Given the description of an element on the screen output the (x, y) to click on. 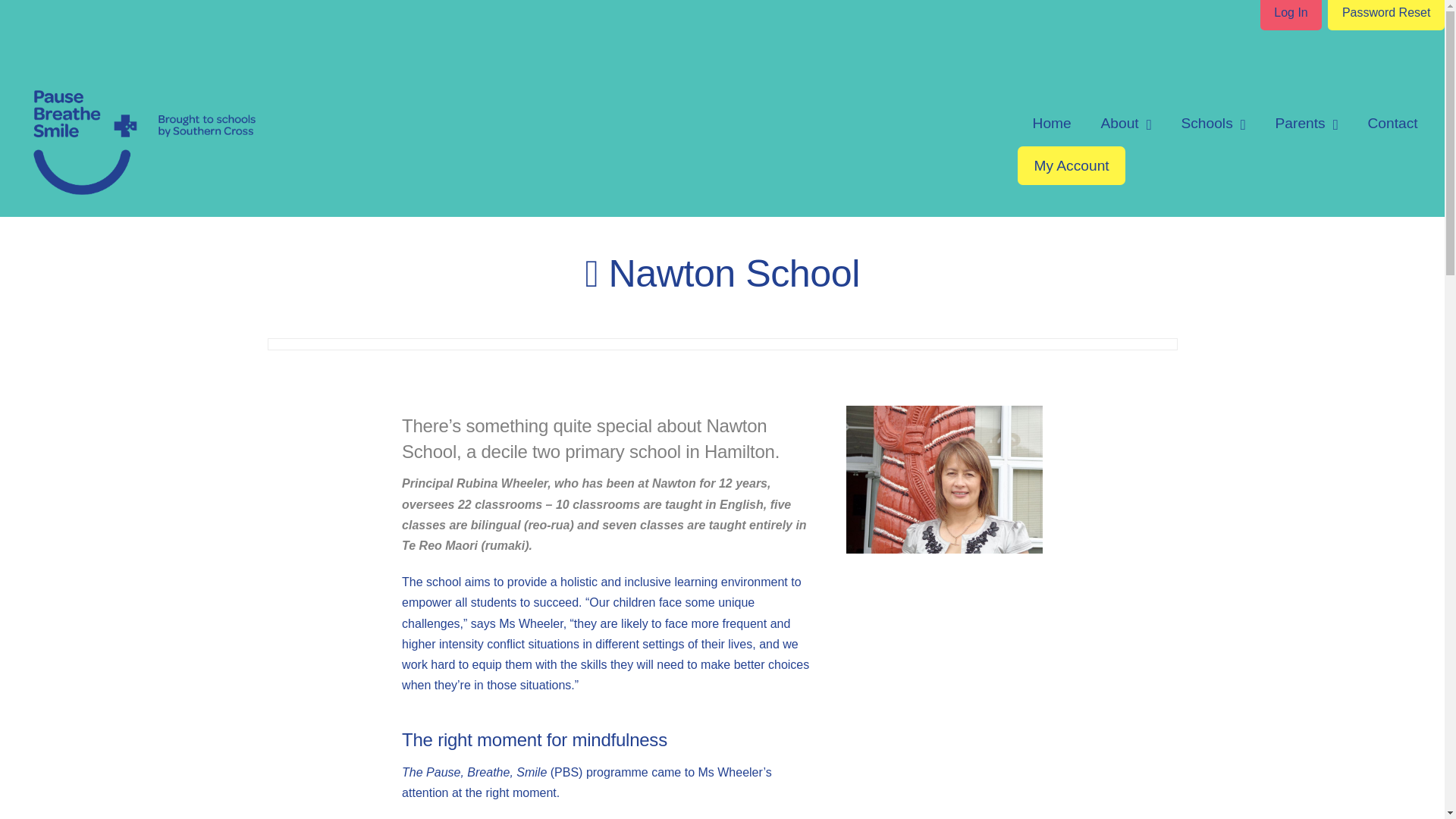
Schools (1213, 122)
About (1126, 122)
Home (1051, 122)
Parents (1306, 122)
Log In (1291, 14)
Contact (1392, 122)
My Account (1071, 165)
